Given the description of an element on the screen output the (x, y) to click on. 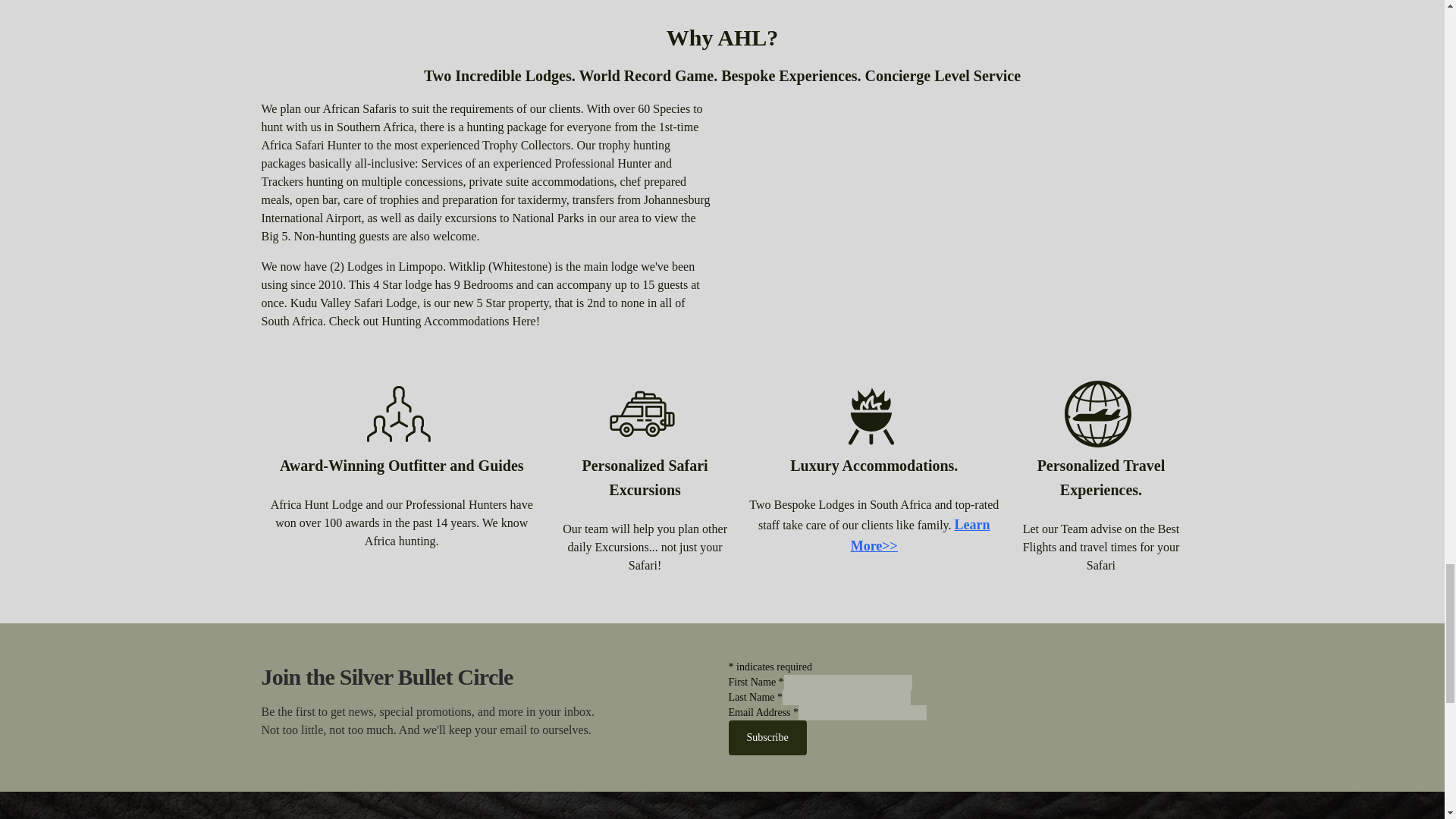
Subscribe (767, 737)
